Given the description of an element on the screen output the (x, y) to click on. 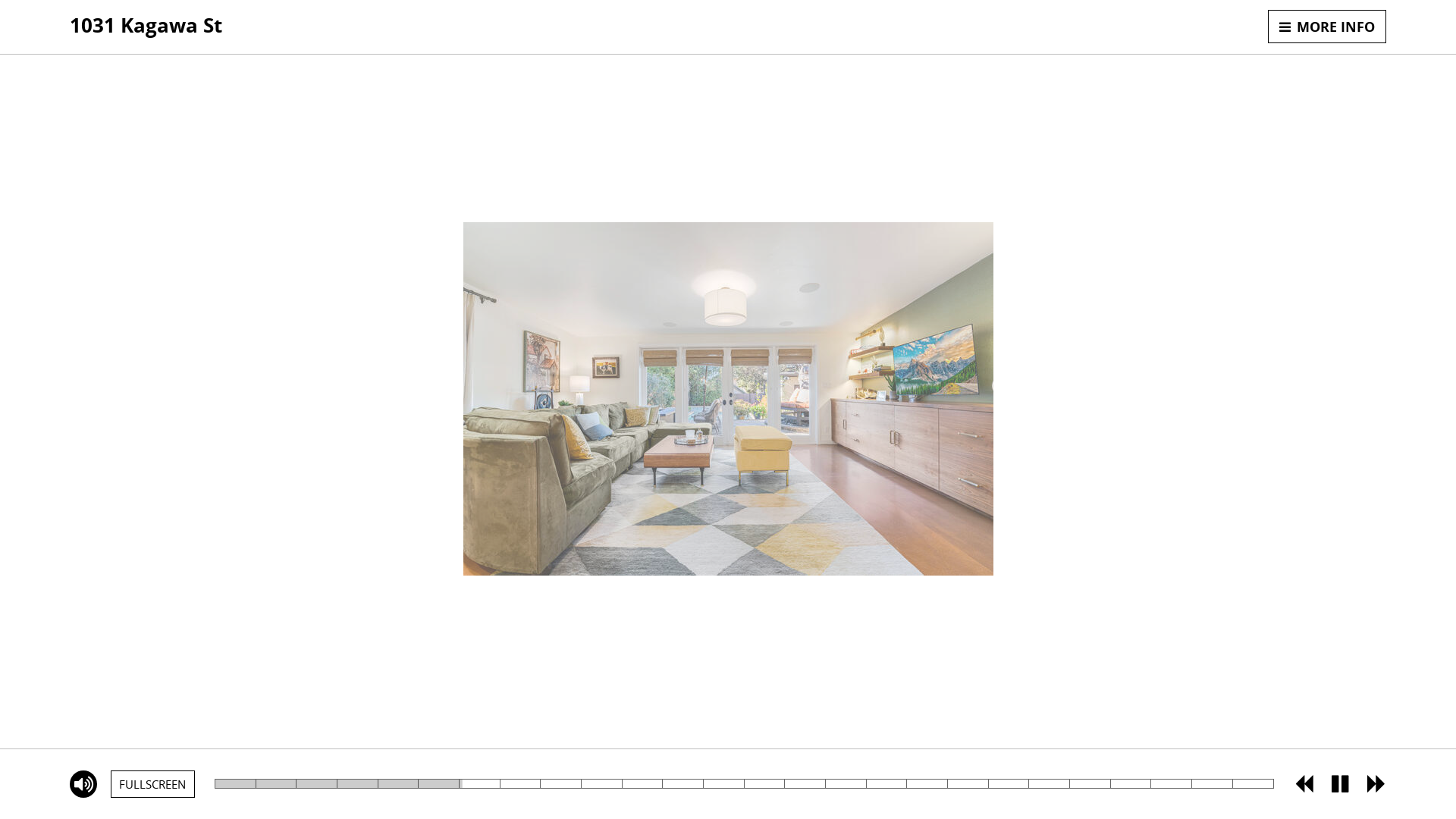
MORE INFO Element type: text (1326, 26)
